Given the description of an element on the screen output the (x, y) to click on. 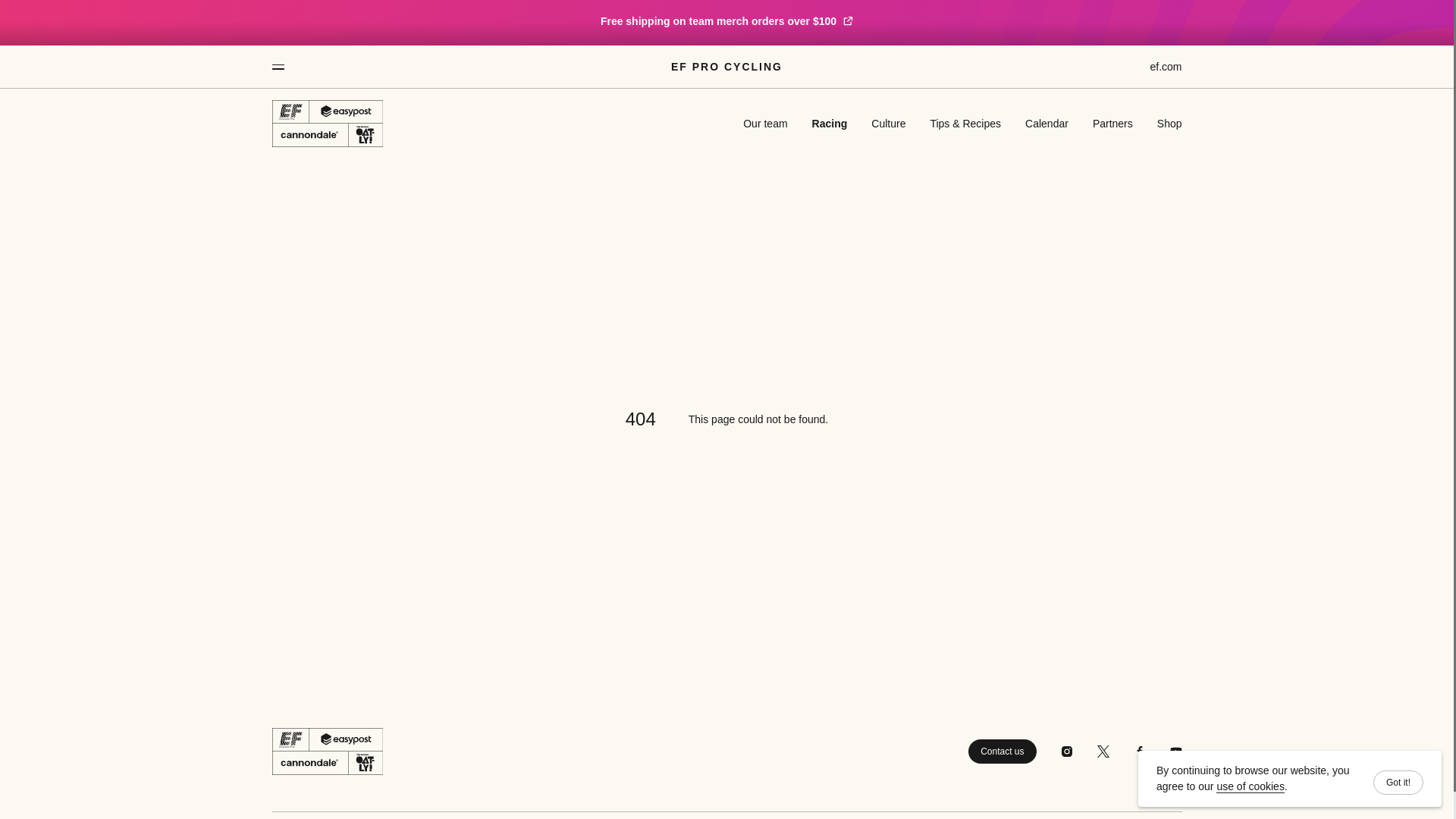
Racing (829, 122)
EF Pro Cycling Store (726, 21)
use of cookies (1249, 786)
Contact us (1001, 751)
Culture (887, 122)
Calendar (1046, 122)
Our team (764, 122)
Shop (1169, 122)
cookie policy (1249, 786)
Got it! (1398, 782)
